Given the description of an element on the screen output the (x, y) to click on. 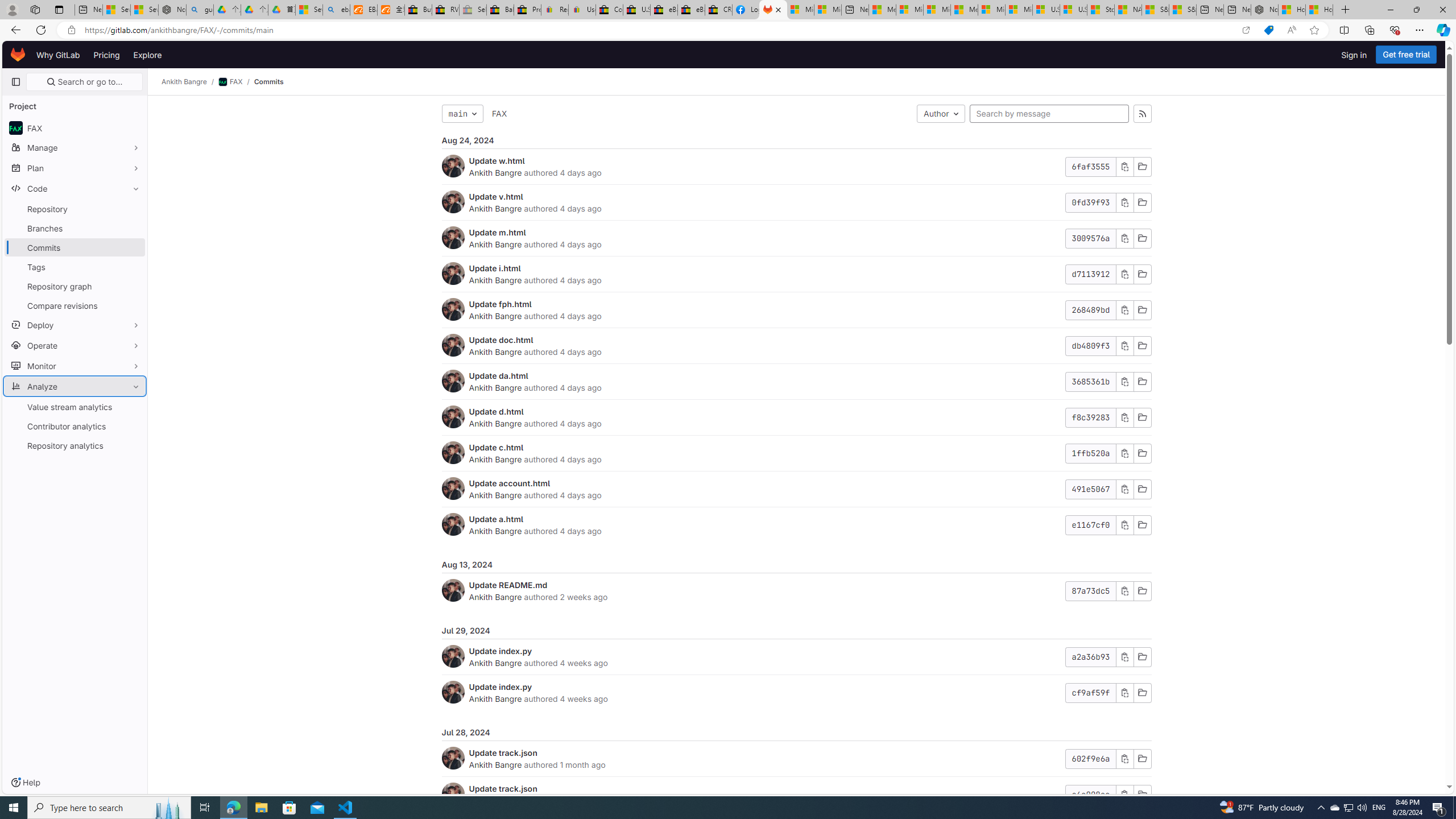
Open in app (1245, 29)
Register: Create a personal eBay account (554, 9)
Deploy (74, 324)
Update track.jsonAnkith Bangre authored 1 month agoc6a008ac (796, 794)
Jul 29, 2024 (796, 630)
avatar (15, 128)
Analyze (74, 385)
Commits (268, 81)
Log into Facebook (746, 9)
Update a.html (496, 519)
